Given the description of an element on the screen output the (x, y) to click on. 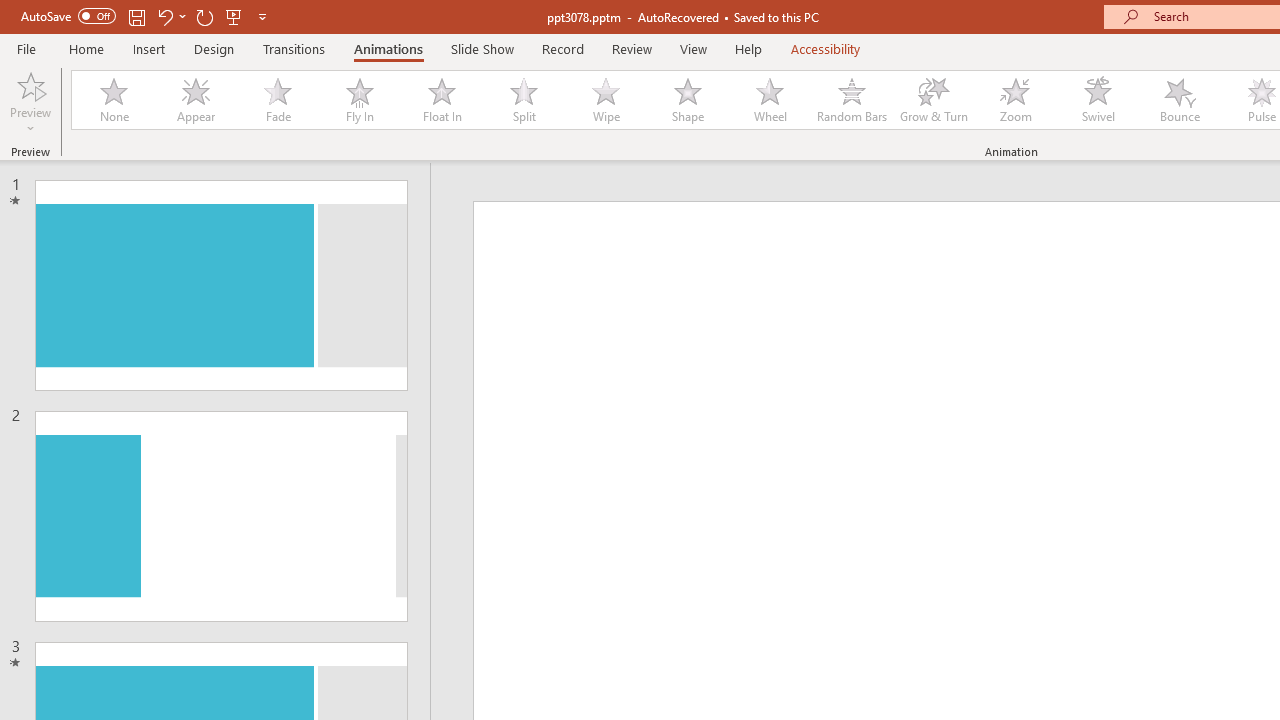
Fly In (359, 100)
Swivel (1098, 100)
Appear (195, 100)
Wheel (770, 100)
Fade (277, 100)
Shape (687, 100)
